Given the description of an element on the screen output the (x, y) to click on. 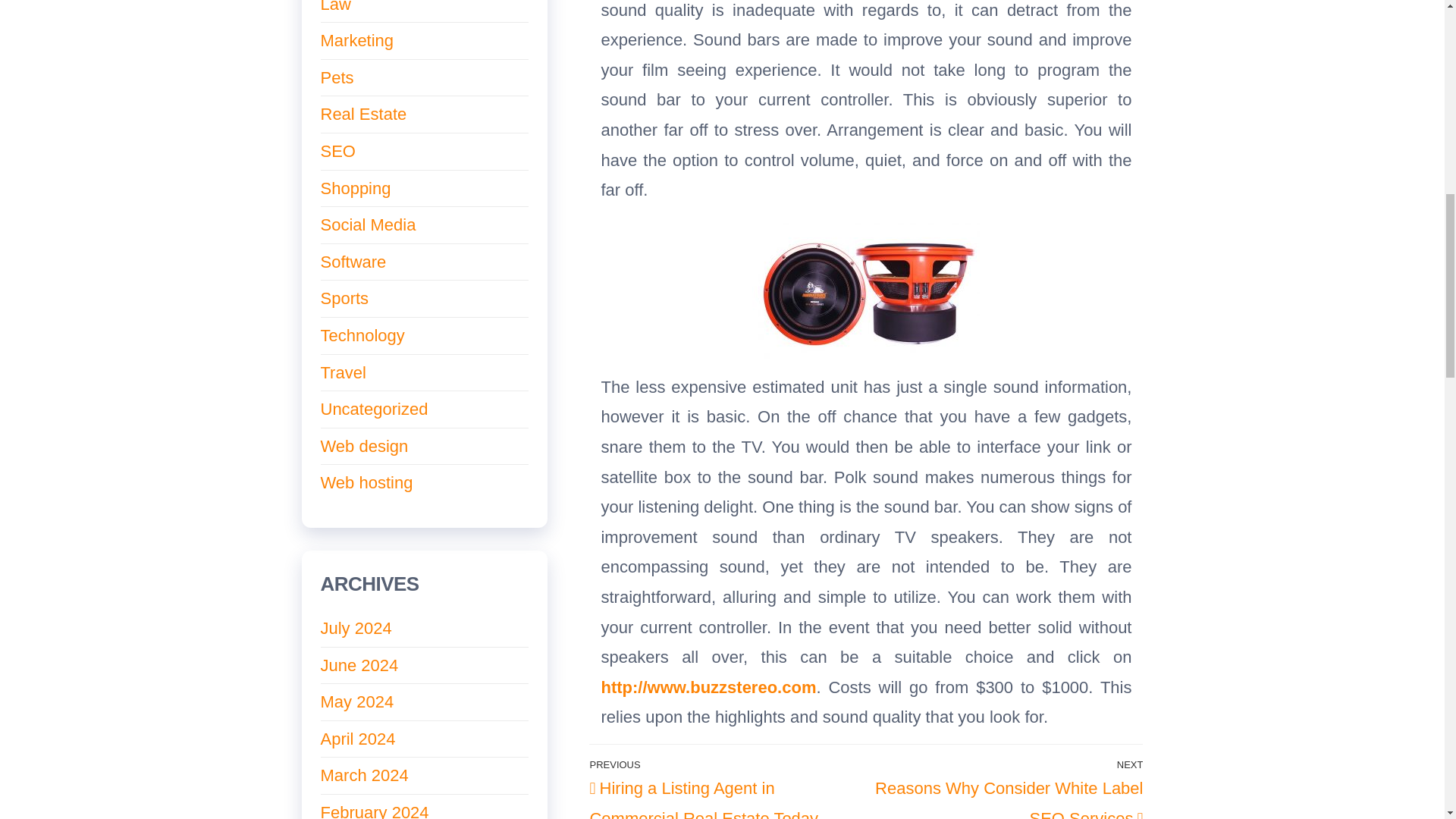
Law (335, 6)
Pets (336, 76)
Social Media (1004, 787)
SEO (367, 224)
Shopping (337, 150)
Software (355, 188)
Real Estate (352, 261)
Marketing (363, 113)
